Given the description of an element on the screen output the (x, y) to click on. 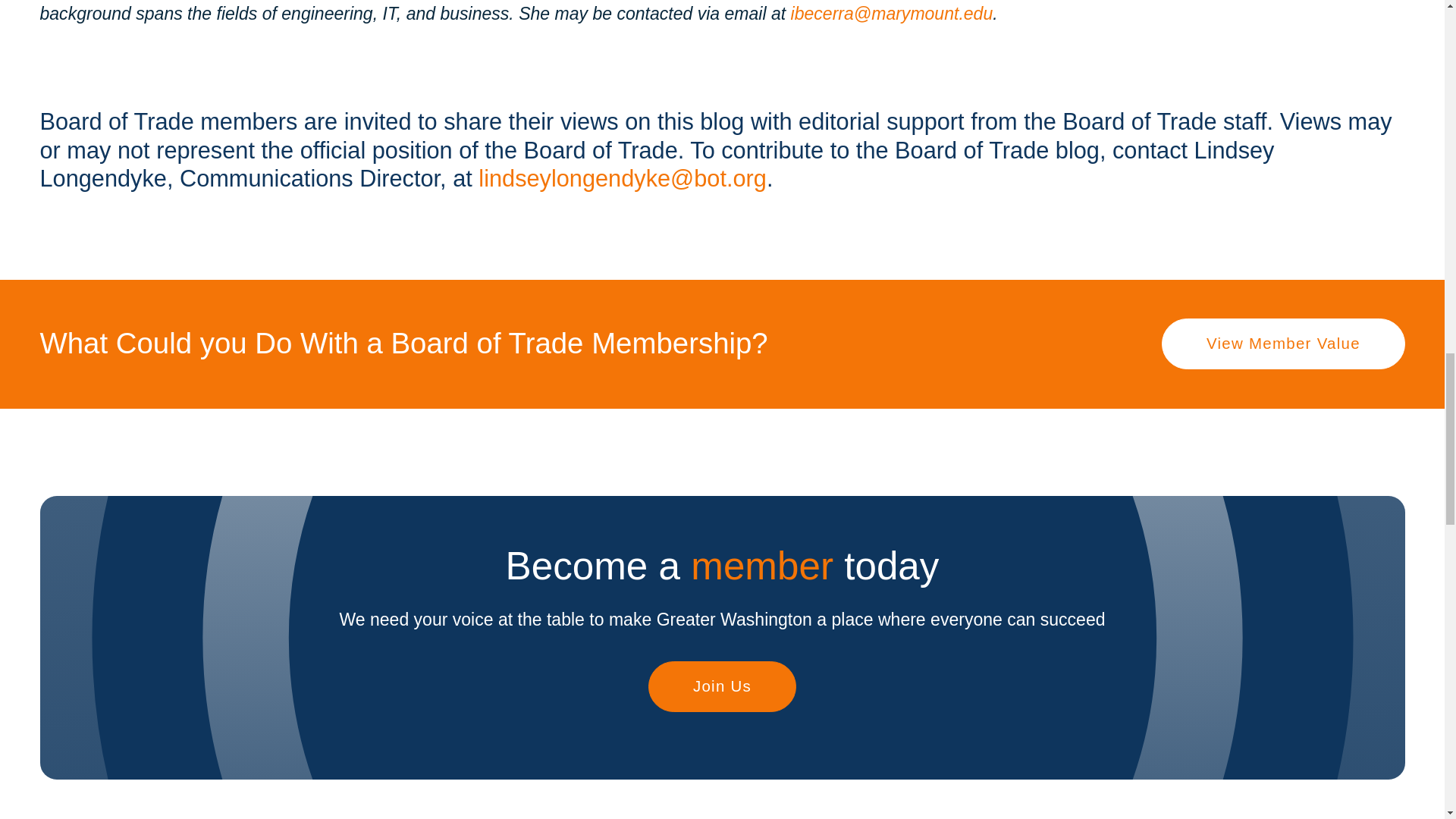
Join Us (720, 685)
View Member Value (1283, 343)
